Given the description of an element on the screen output the (x, y) to click on. 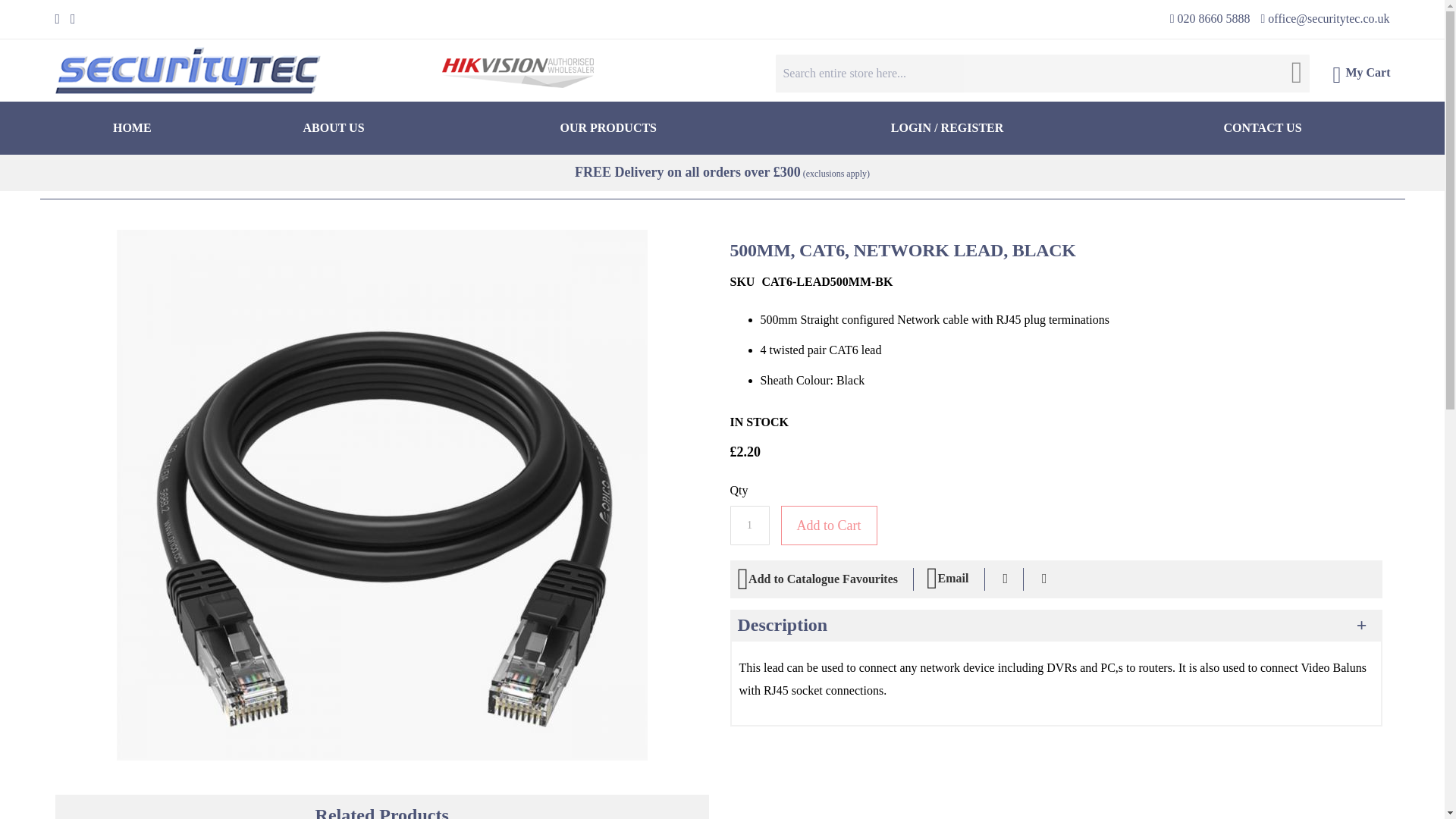
OUR PRODUCTS (607, 127)
020 8660 5888 (1210, 18)
Add to Cart (828, 525)
Availability (759, 422)
Telephone Security Tec (1210, 18)
My Cart (1360, 76)
Qty (748, 525)
Share on Facebook (1005, 579)
1 (748, 525)
ABOUT US (332, 127)
